Given the description of an element on the screen output the (x, y) to click on. 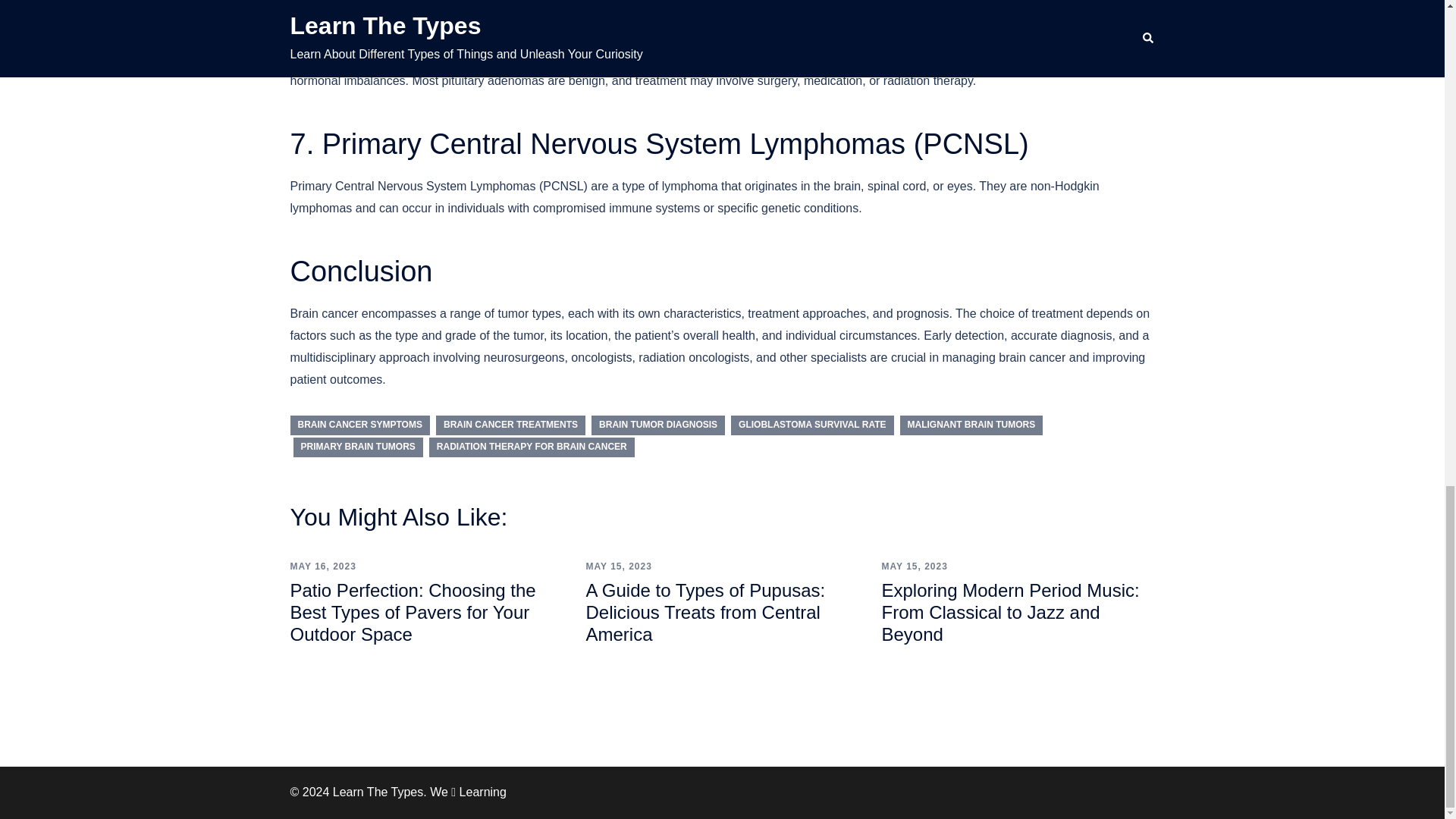
MAY 16, 2023 (322, 566)
MALIGNANT BRAIN TUMORS (971, 424)
PRIMARY BRAIN TUMORS (357, 447)
BRAIN TUMOR DIAGNOSIS (658, 424)
MAY 15, 2023 (617, 566)
BRAIN CANCER TREATMENTS (510, 424)
GLIOBLASTOMA SURVIVAL RATE (811, 424)
RADIATION THERAPY FOR BRAIN CANCER (531, 447)
MAY 15, 2023 (913, 566)
